Given the description of an element on the screen output the (x, y) to click on. 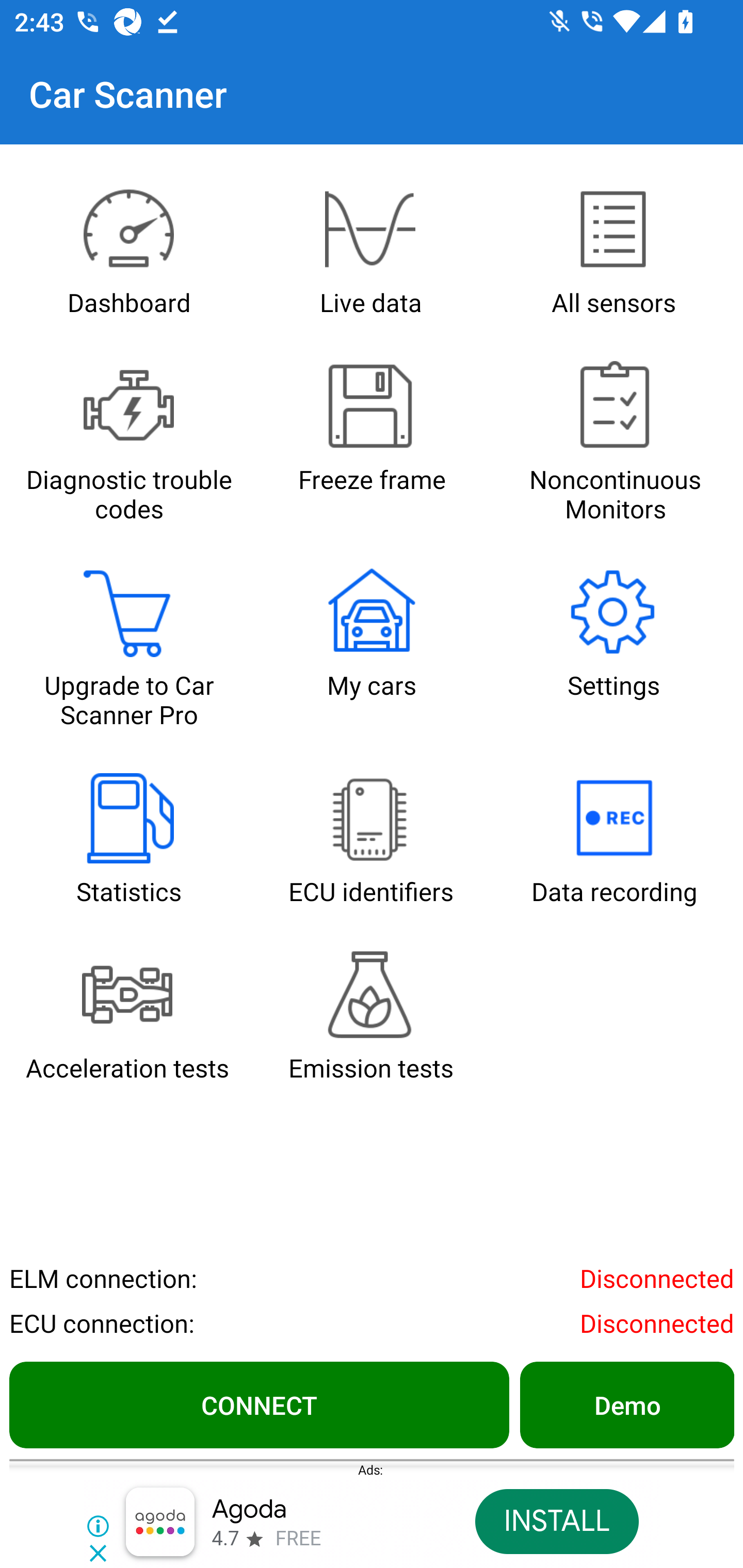
CONNECT (258, 1404)
Demo (627, 1404)
INSTALL (556, 1521)
Agoda (249, 1509)
4.7 (224, 1539)
FREE (298, 1539)
